Given the description of an element on the screen output the (x, y) to click on. 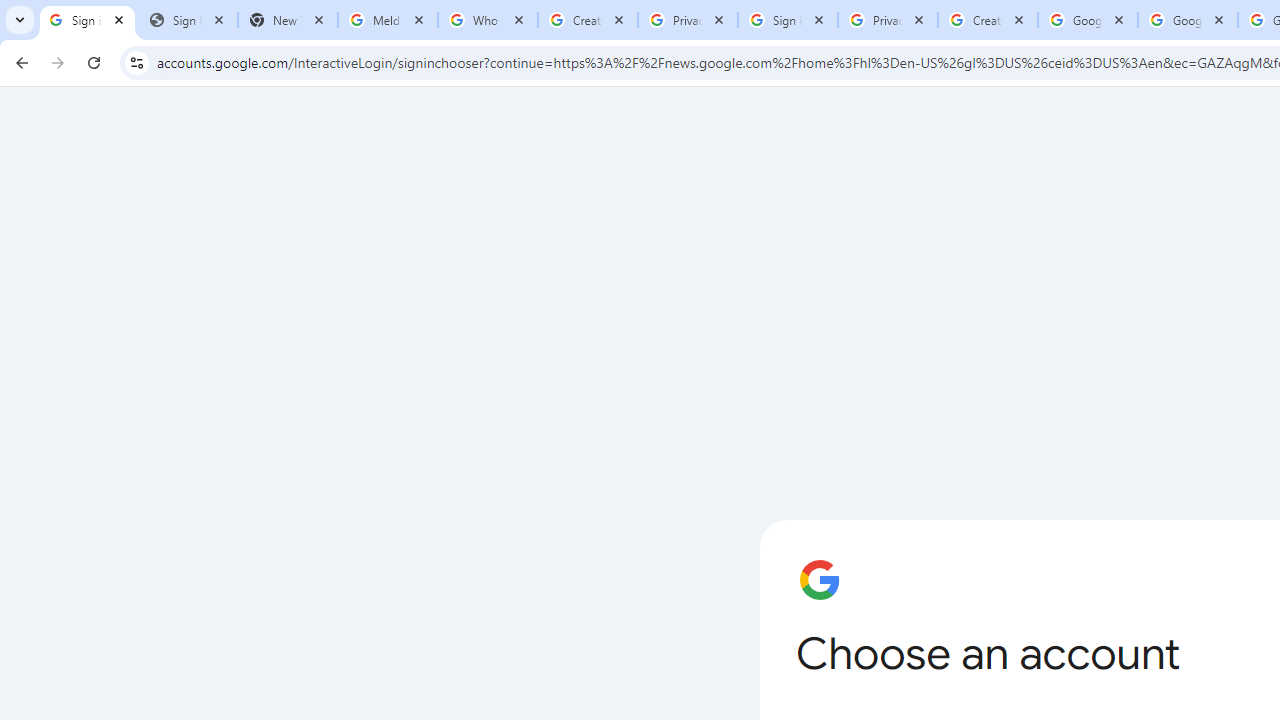
Create your Google Account (587, 20)
New Tab (287, 20)
Sign in - Google Accounts (788, 20)
Who is my administrator? - Google Account Help (487, 20)
Create your Google Account (988, 20)
Sign In - USA TODAY (188, 20)
